Given the description of an element on the screen output the (x, y) to click on. 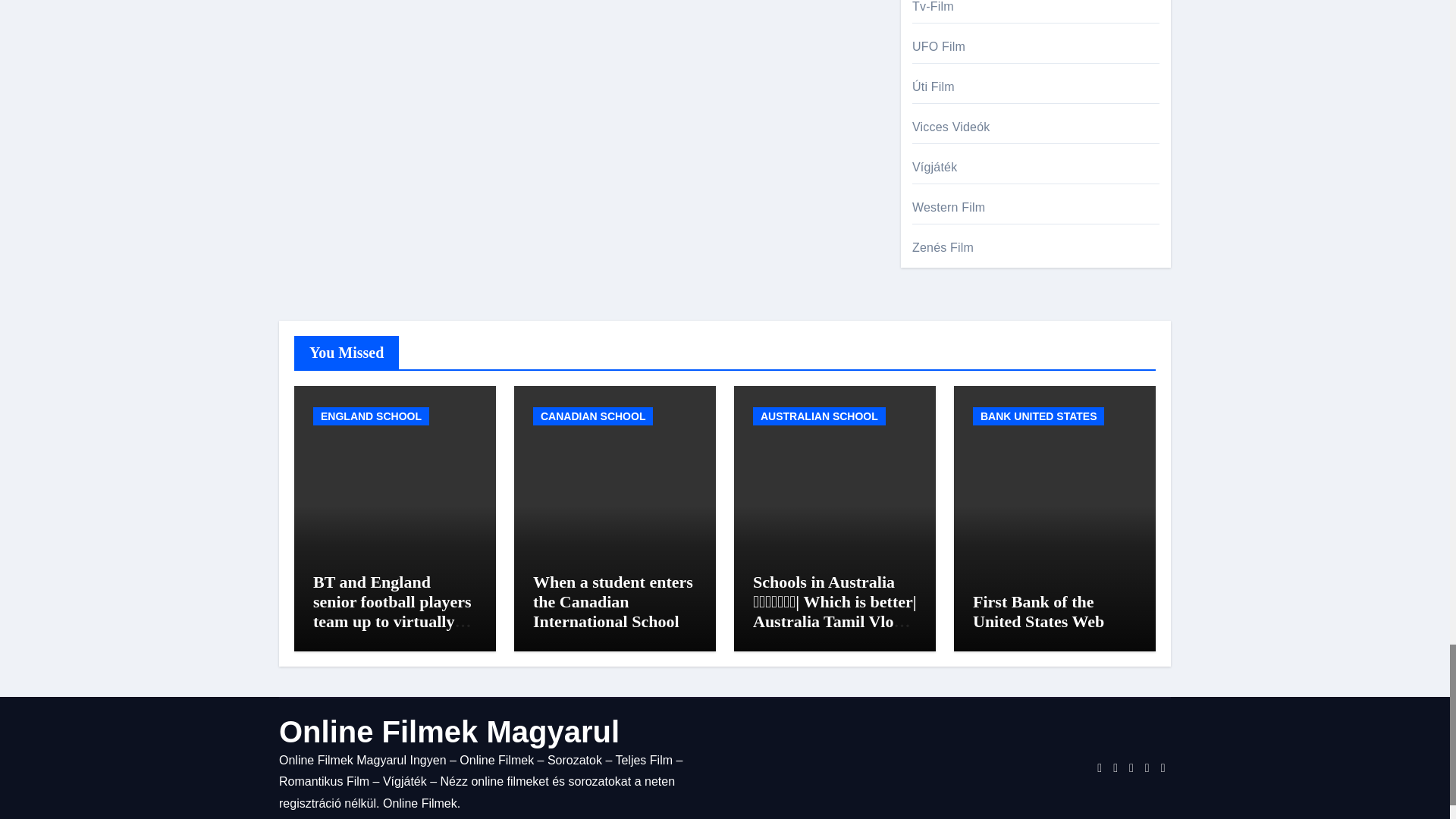
Permalink to: First Bank of the United States Web (1037, 611)
